Given the description of an element on the screen output the (x, y) to click on. 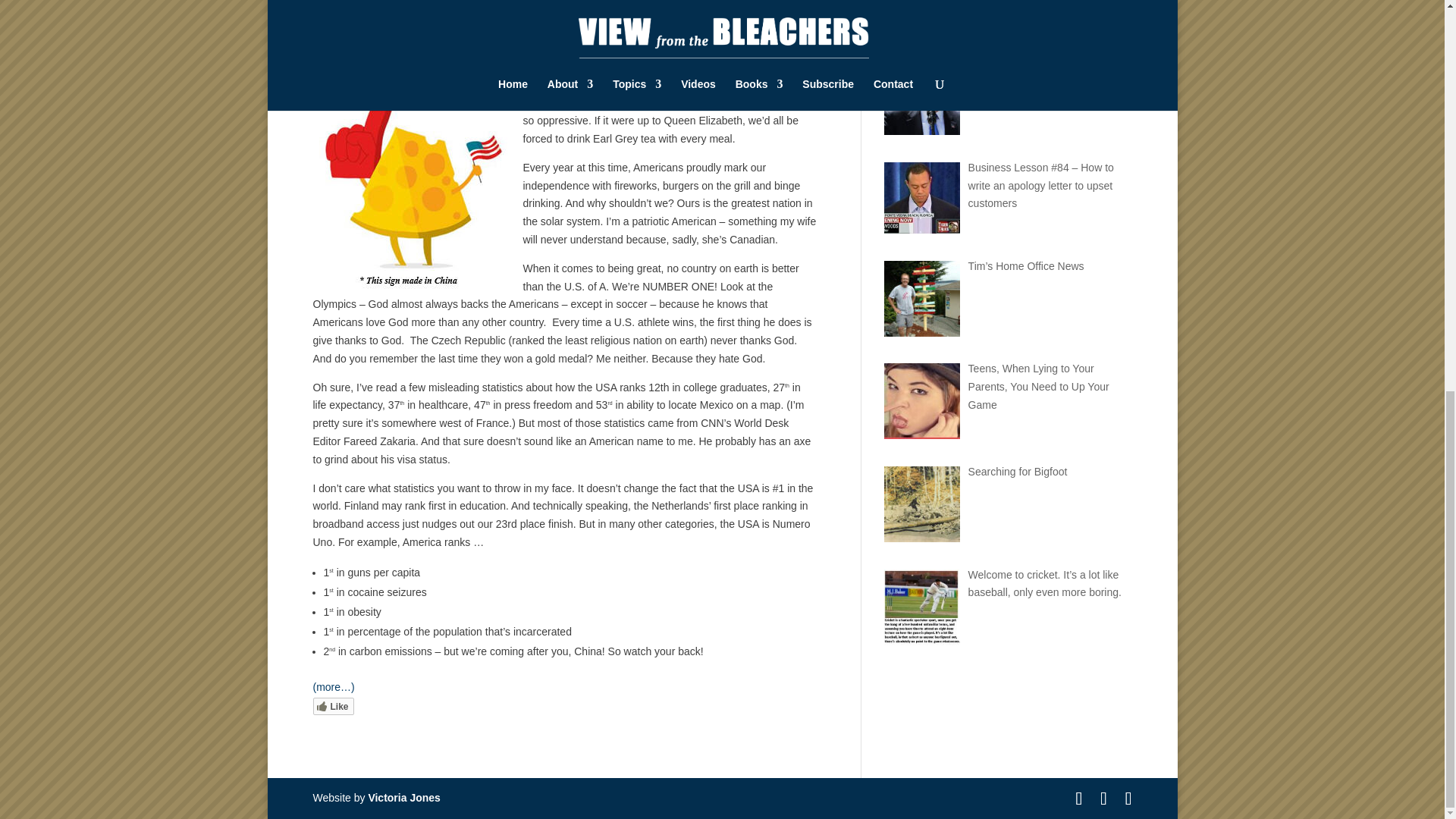
TEJ (336, 50)
Posts by TEJ (336, 50)
Fun and Leisure Humor (480, 50)
Holiday humor (575, 50)
Lifestyles humor (653, 50)
